Given the description of an element on the screen output the (x, y) to click on. 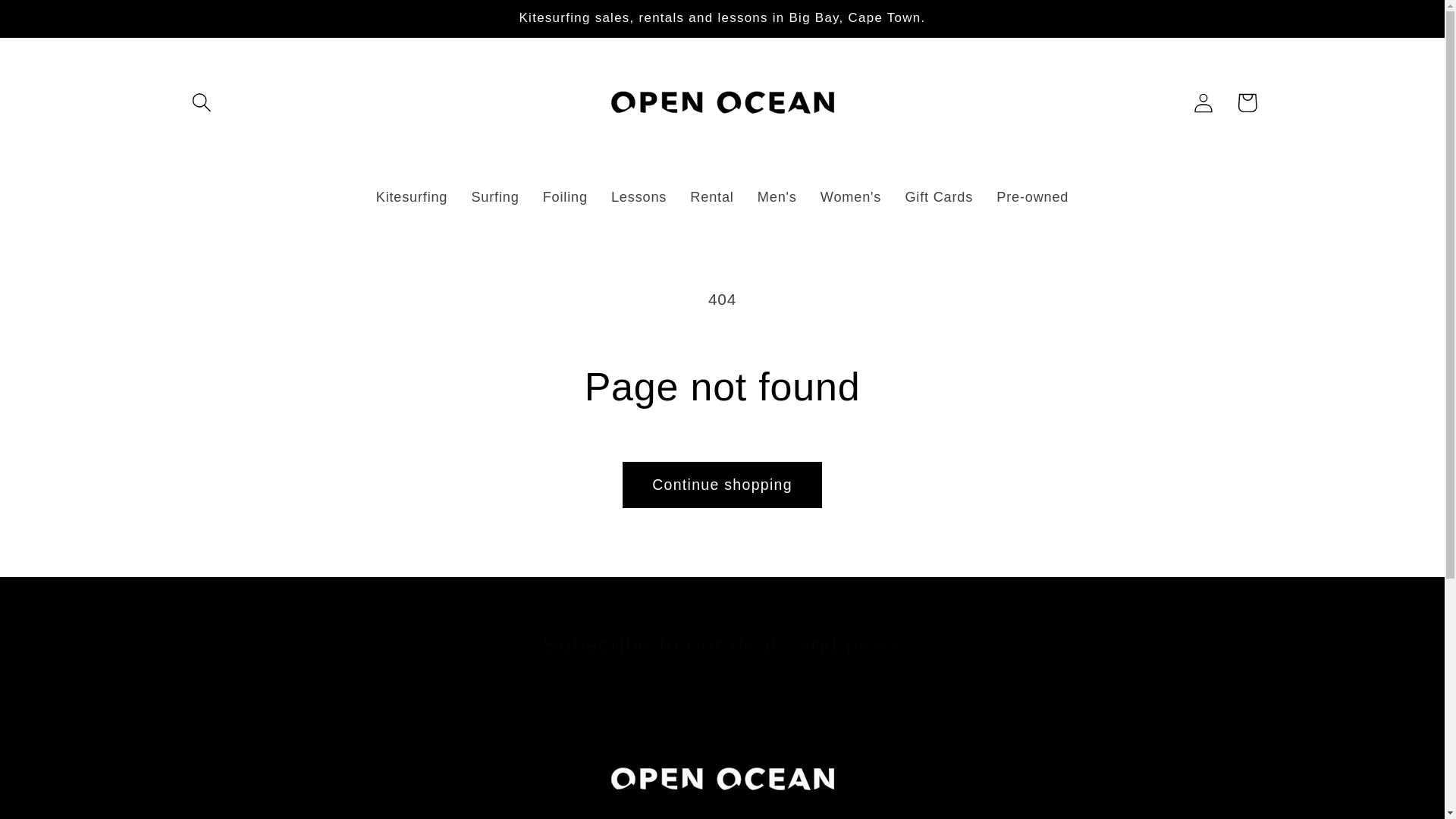
Rental (711, 197)
Foiling (564, 197)
Cart (1246, 102)
Log in (1202, 102)
Kitesurfing (412, 197)
Continue shopping (722, 484)
Subscribe to our deals and news (721, 644)
Lessons (638, 197)
Gift Cards (939, 197)
Surfing (495, 197)
Email (721, 703)
Pre-owned (1032, 197)
Skip to content (59, 22)
Women's (850, 197)
Men's (776, 197)
